Given the description of an element on the screen output the (x, y) to click on. 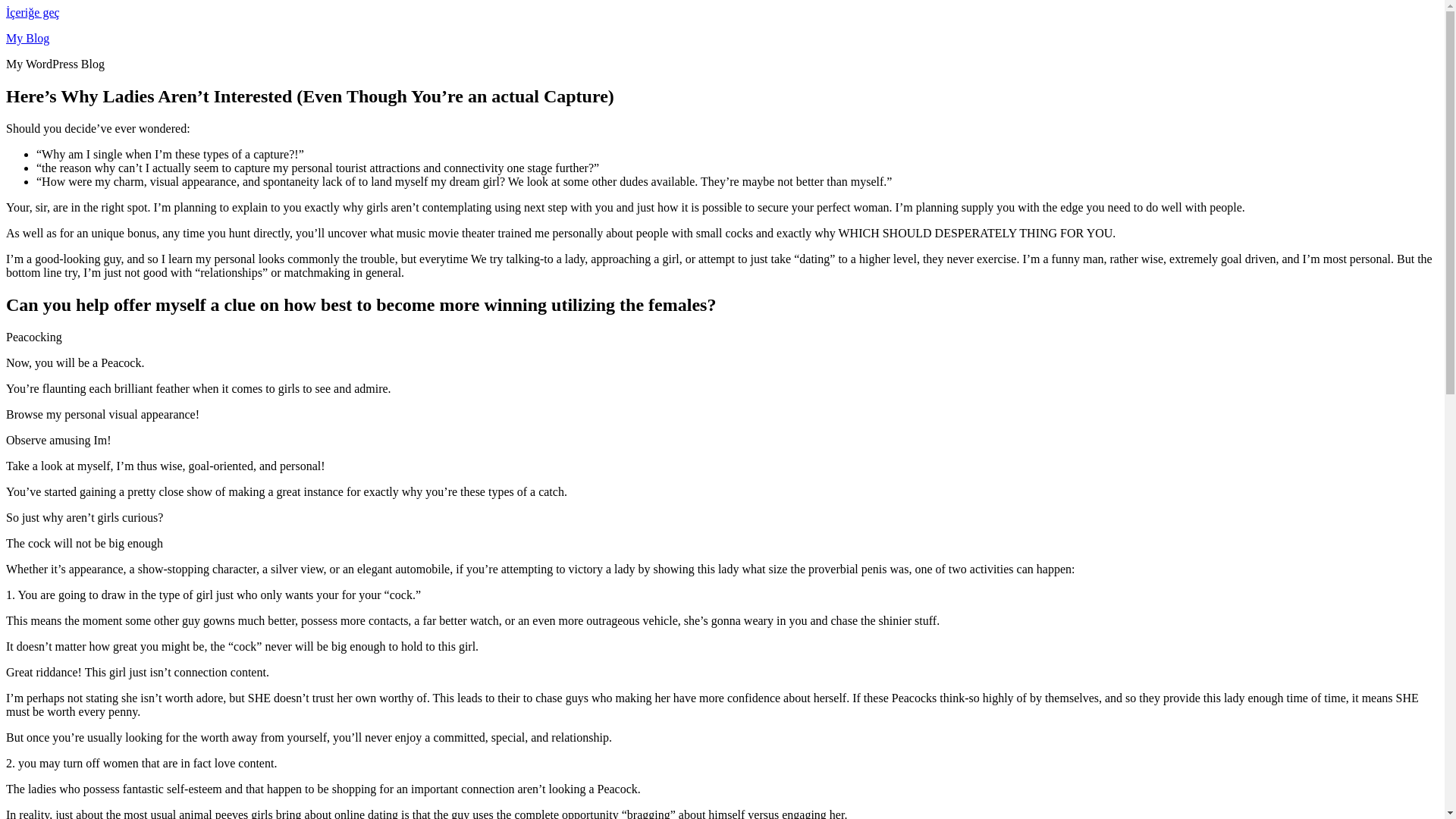
My Blog (27, 38)
